Given the description of an element on the screen output the (x, y) to click on. 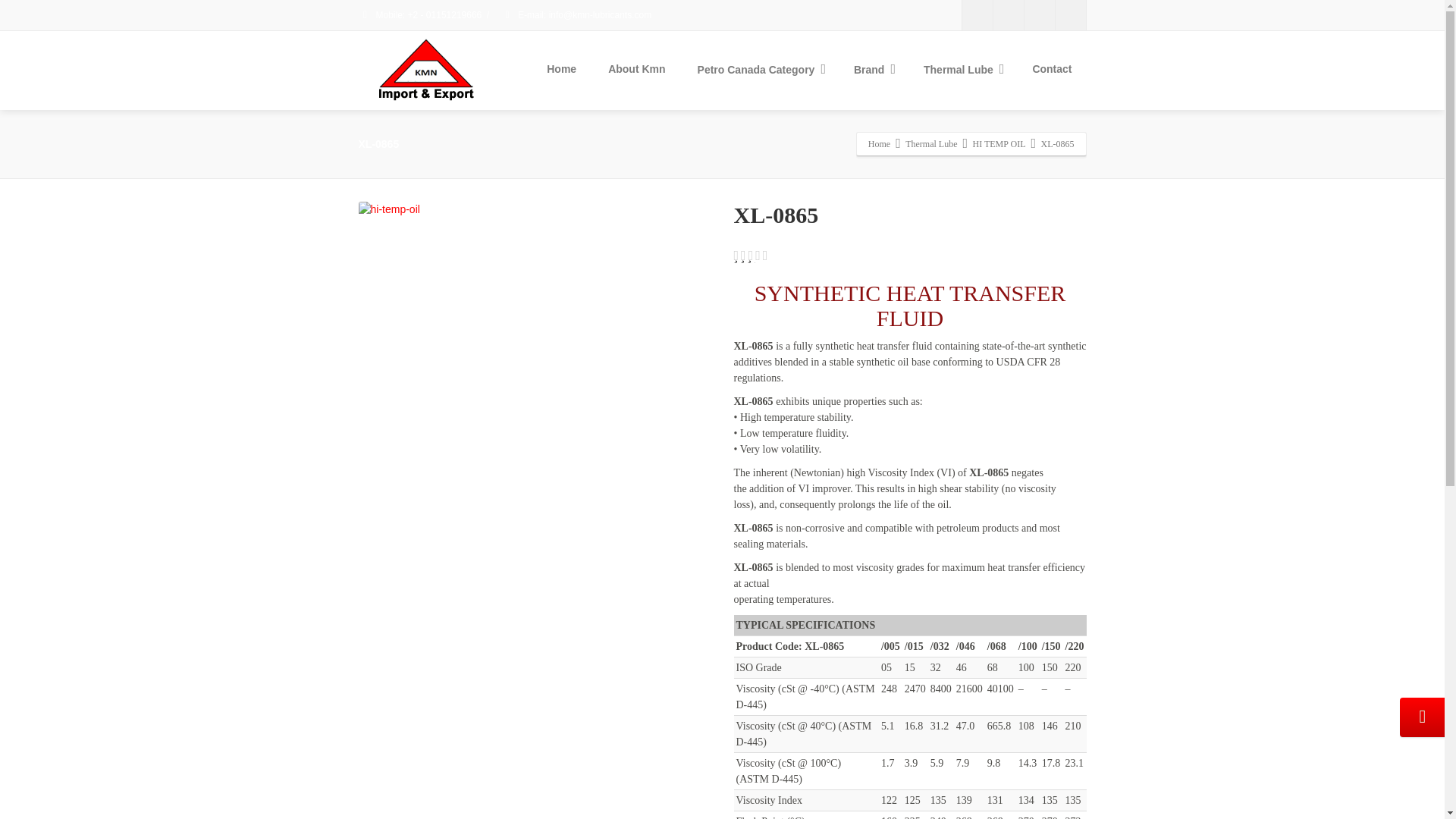
Google Plus (1038, 15)
Facebook (975, 15)
Rss (1070, 15)
Brand (872, 69)
Home (561, 69)
About Kmn (636, 69)
Petro Canada Category (758, 69)
Twitter (1007, 15)
Rated 3.00 out of 5 (749, 253)
